Given the description of an element on the screen output the (x, y) to click on. 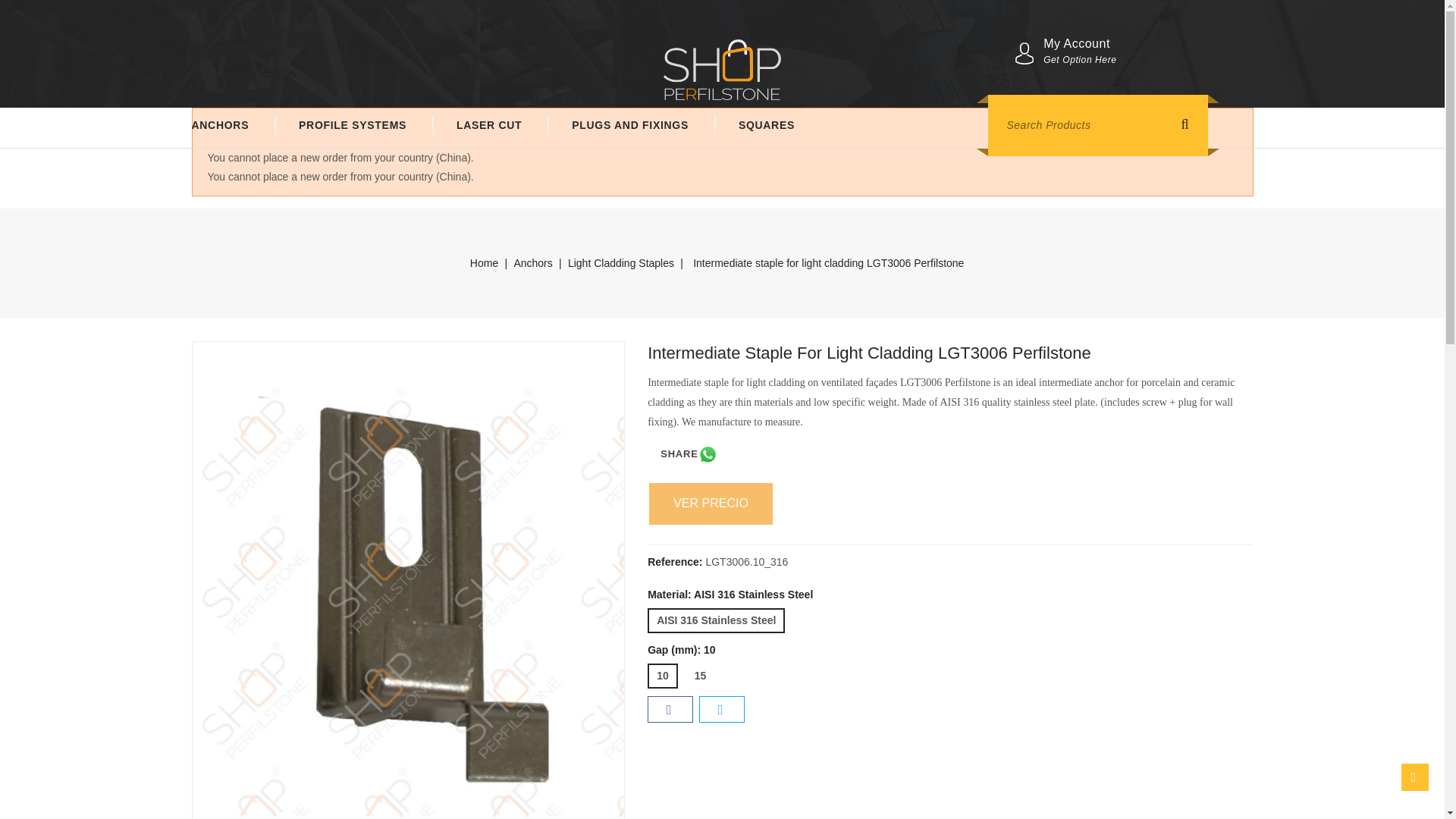
VER PRECIO (711, 503)
Home (483, 263)
Share (670, 708)
ANCHORS (230, 125)
SHARE (688, 454)
LASER CUT (488, 125)
Anchors (532, 263)
PLUGS AND FIXINGS (629, 125)
Tweet (722, 708)
